Given the description of an element on the screen output the (x, y) to click on. 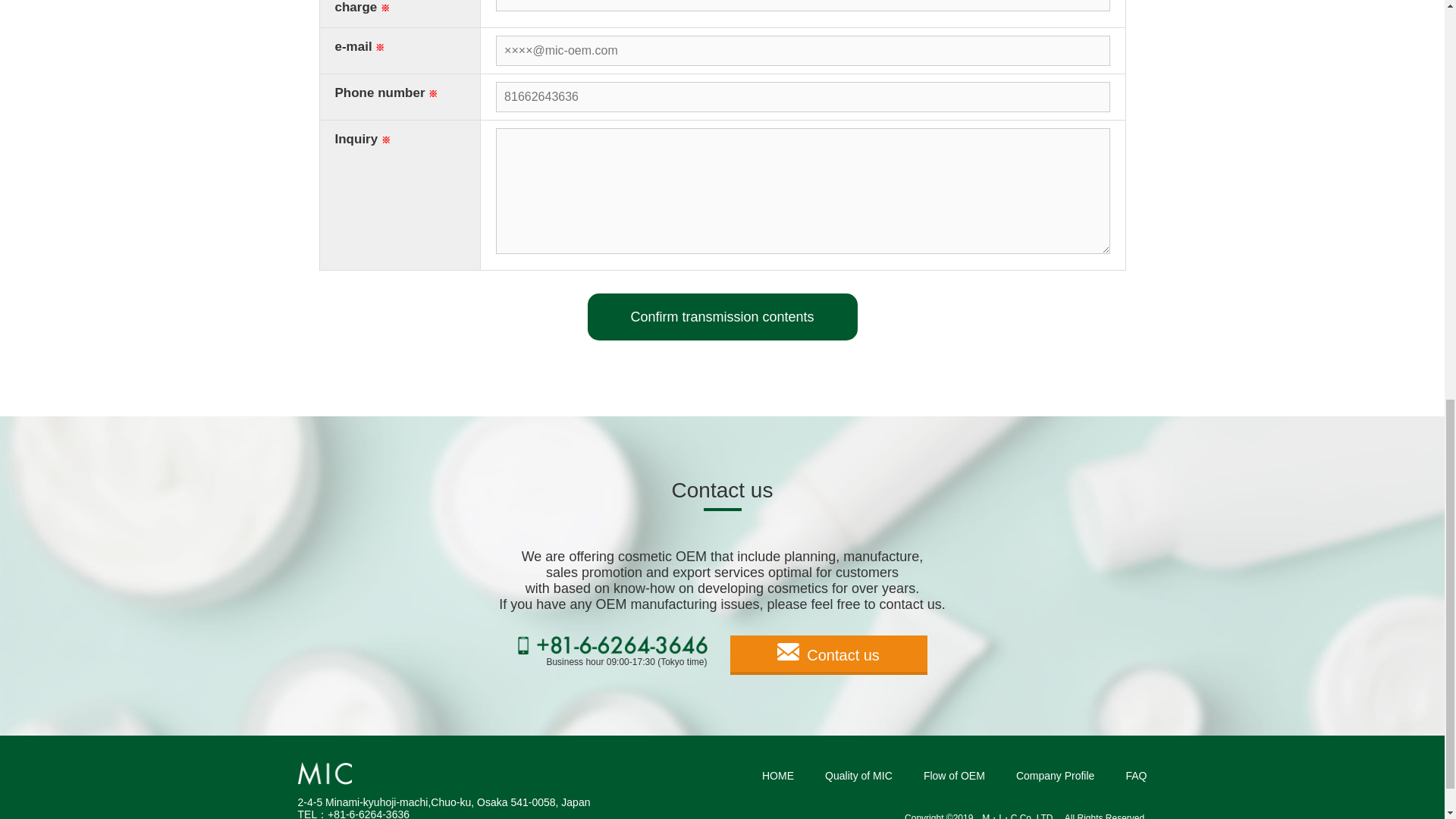
Quality of MIC (858, 775)
Company Profile (1055, 775)
HOME (777, 775)
Contact us (827, 654)
FAQ (1136, 775)
Flow of OEM (954, 775)
